Given the description of an element on the screen output the (x, y) to click on. 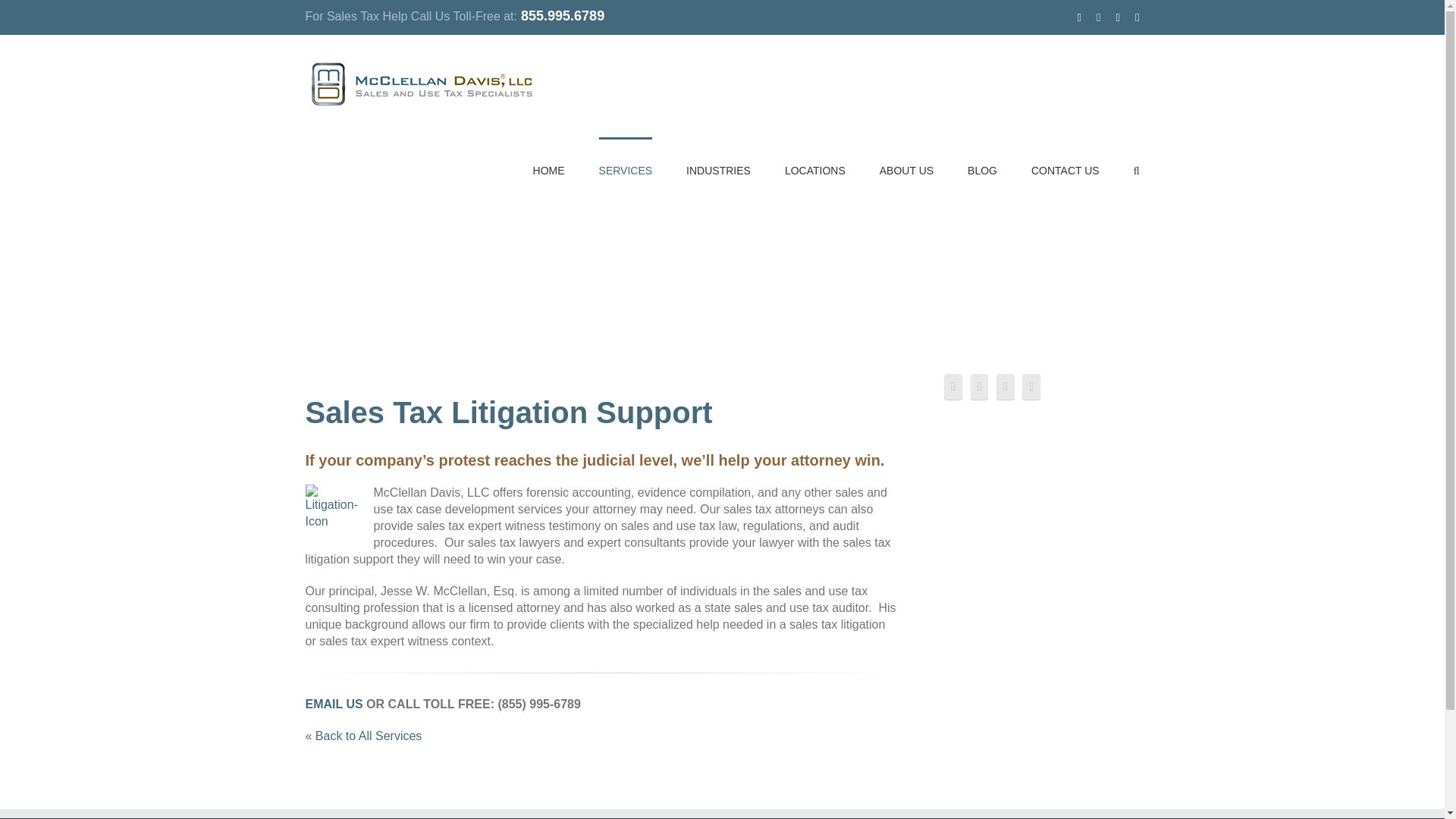
LOCATIONS (814, 169)
INDUSTRIES (718, 169)
855.995.6789 (562, 15)
